Given the description of an element on the screen output the (x, y) to click on. 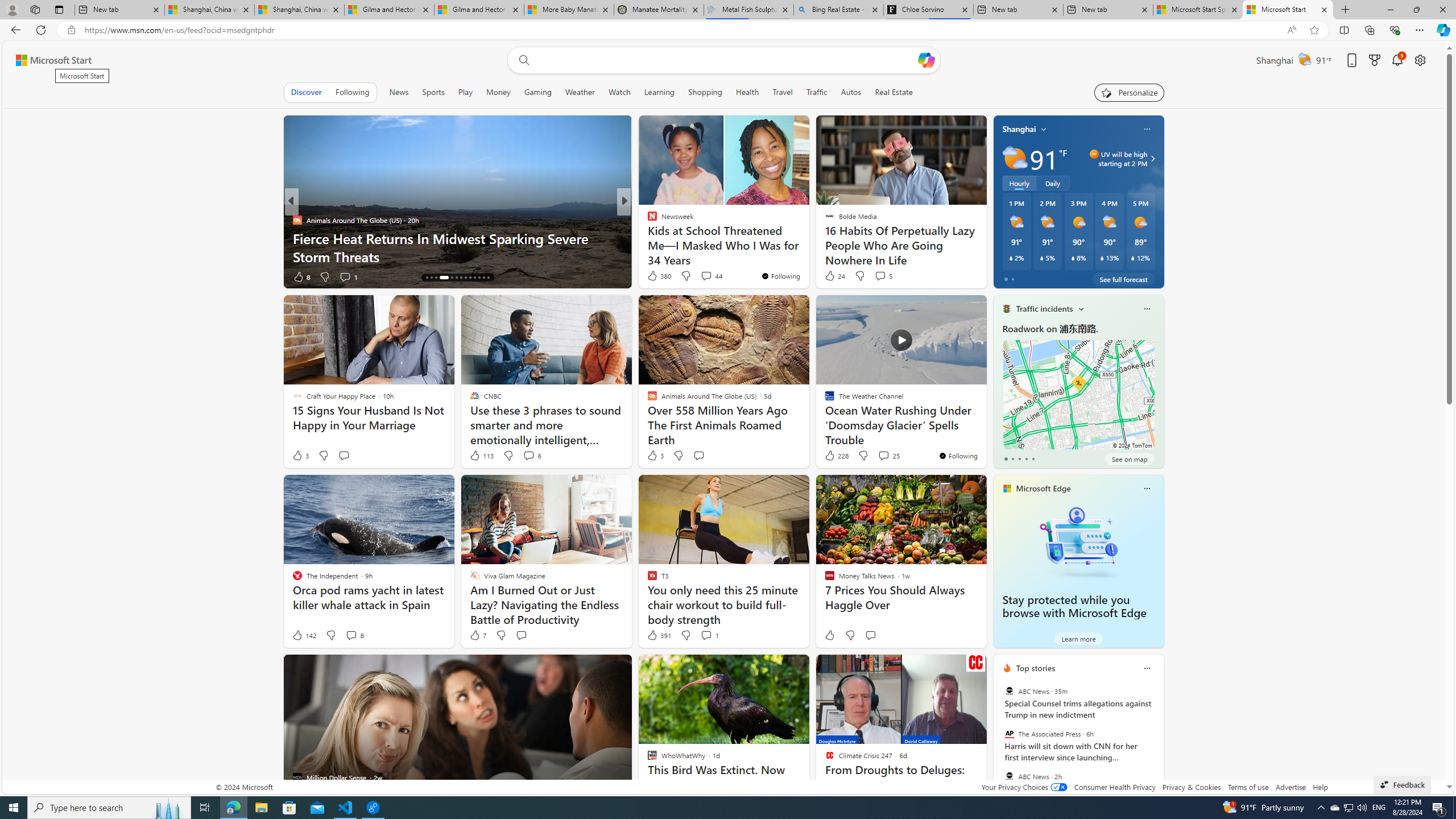
View comments 56 Comment (707, 276)
Microsoft Edge (1043, 488)
View comments 1 Comment (705, 635)
See full forecast (1123, 278)
Top stories (1035, 668)
